Given the description of an element on the screen output the (x, y) to click on. 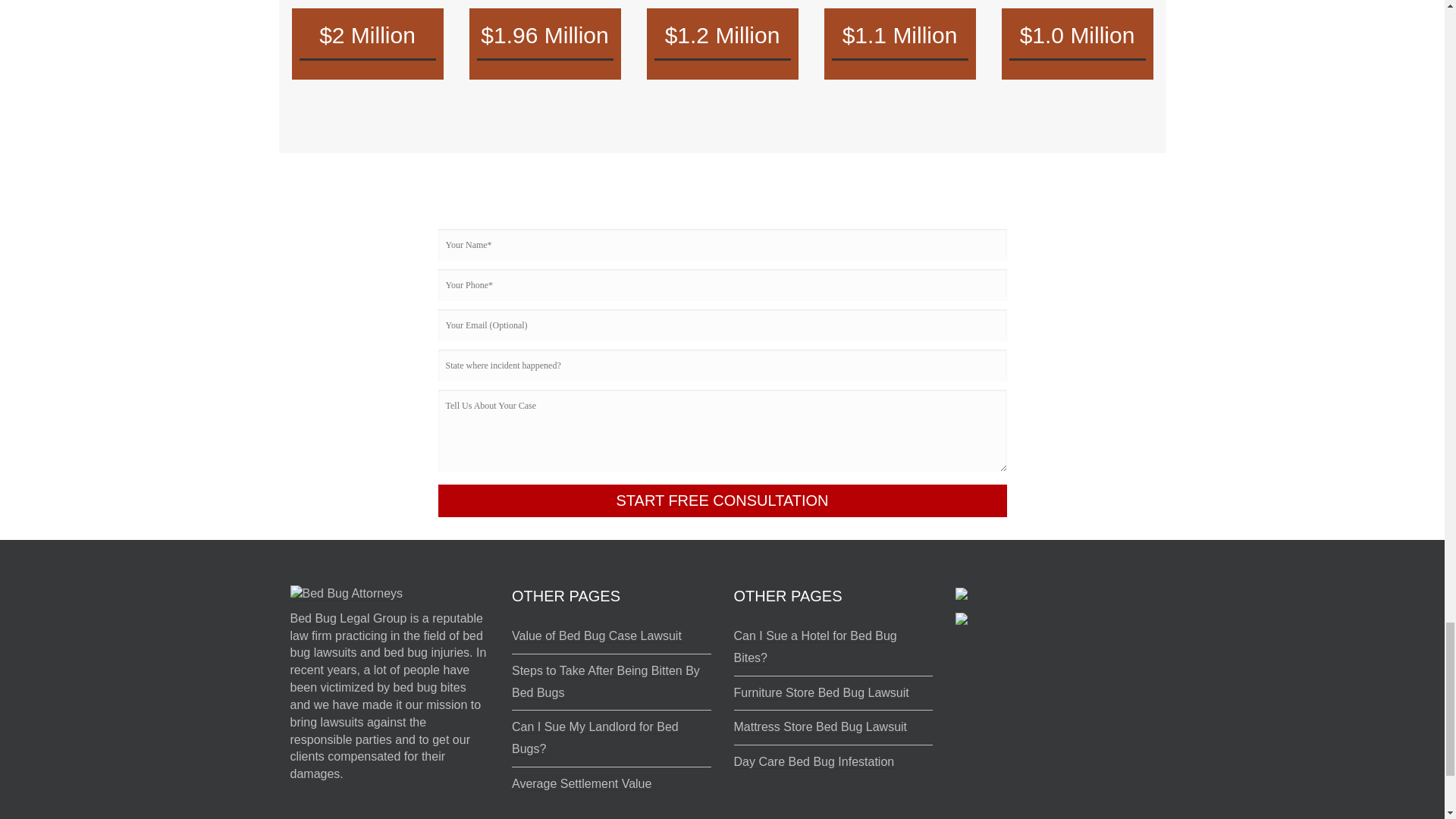
Mattress Store Bed Bug Lawsuit (820, 726)
Day Care Bed Bug Infestation (814, 762)
Can I Sue My Landlord for Bed Bugs? (595, 737)
START FREE CONSULTATION (722, 500)
Furniture Store Bed Bug Lawsuit (820, 693)
START FREE CONSULTATION (722, 500)
Value of Bed Bug Case Lawsuit (596, 635)
Steps to Take After Being Bitten By Bed Bugs (606, 682)
Average Settlement Value (581, 784)
Bed Bug Legal Group (347, 618)
Can I Sue a Hotel for Bed Bug Bites? (814, 647)
